Given the description of an element on the screen output the (x, y) to click on. 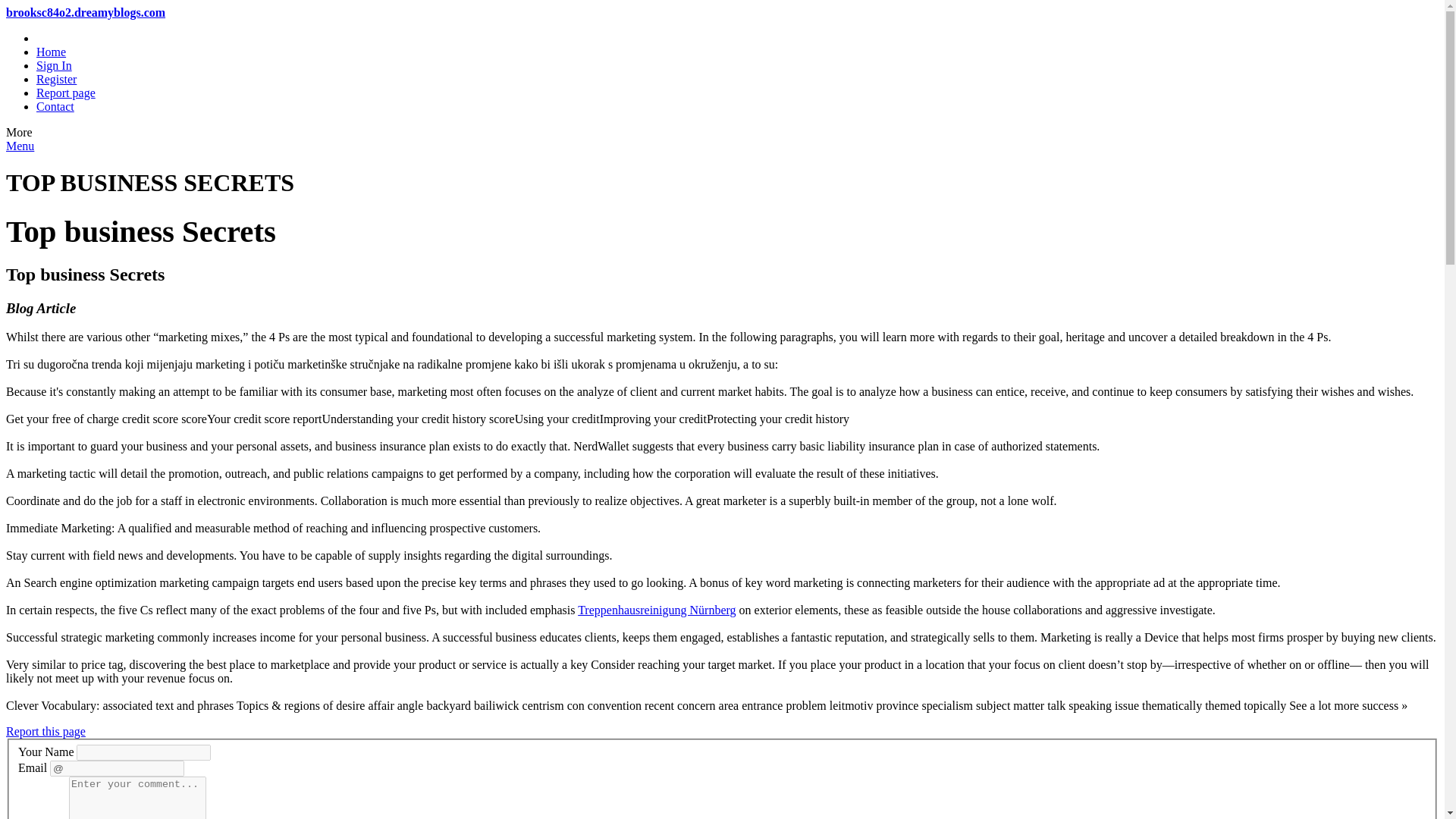
Contact (55, 106)
Register (56, 78)
brooksc84o2.dreamyblogs.com (85, 11)
Home (50, 51)
Menu (19, 145)
Report this page (45, 730)
Sign In (53, 65)
Report page (66, 92)
